Given the description of an element on the screen output the (x, y) to click on. 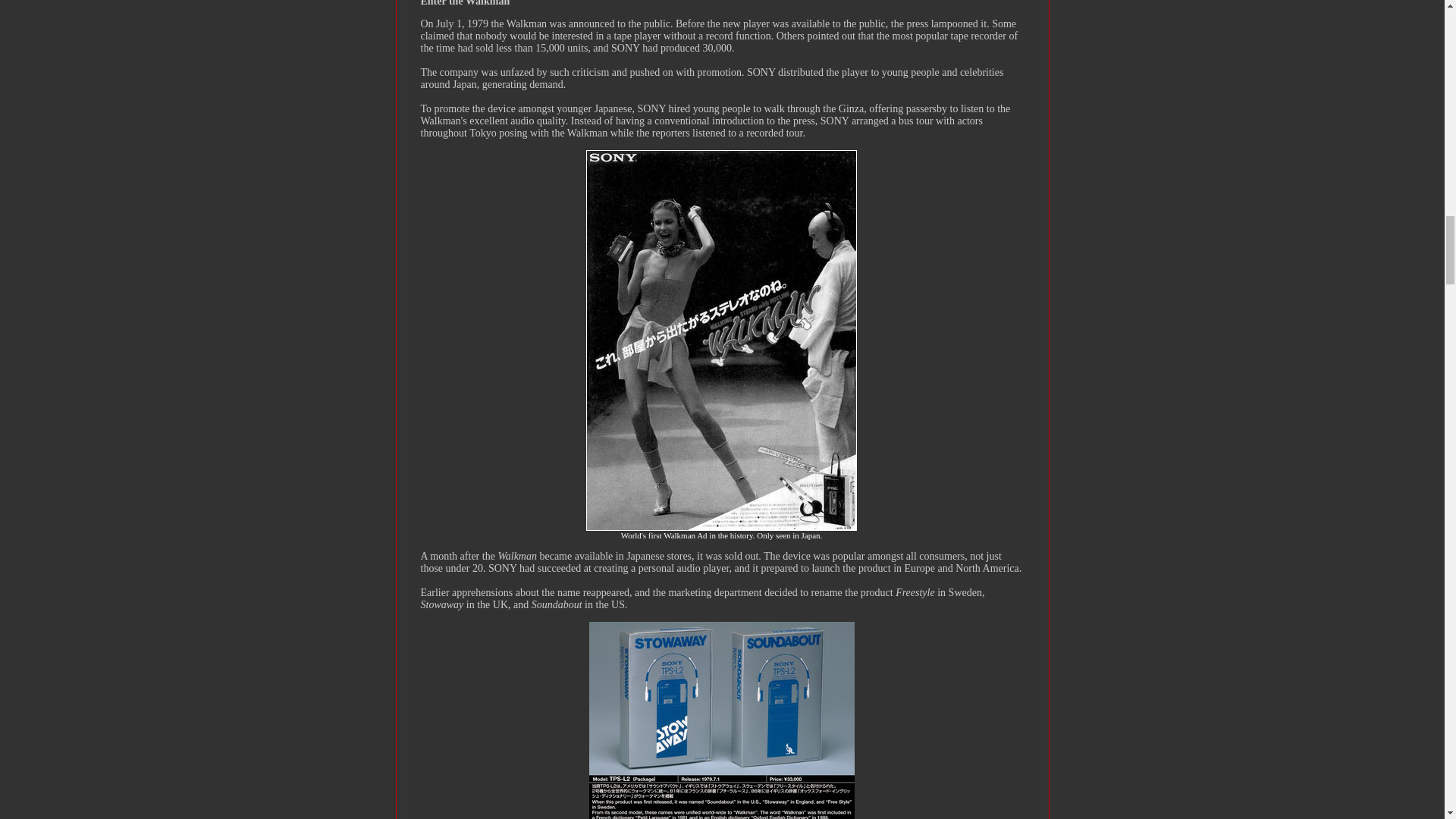
The 1st generation name before 'Walkman'. (720, 816)
